Given the description of an element on the screen output the (x, y) to click on. 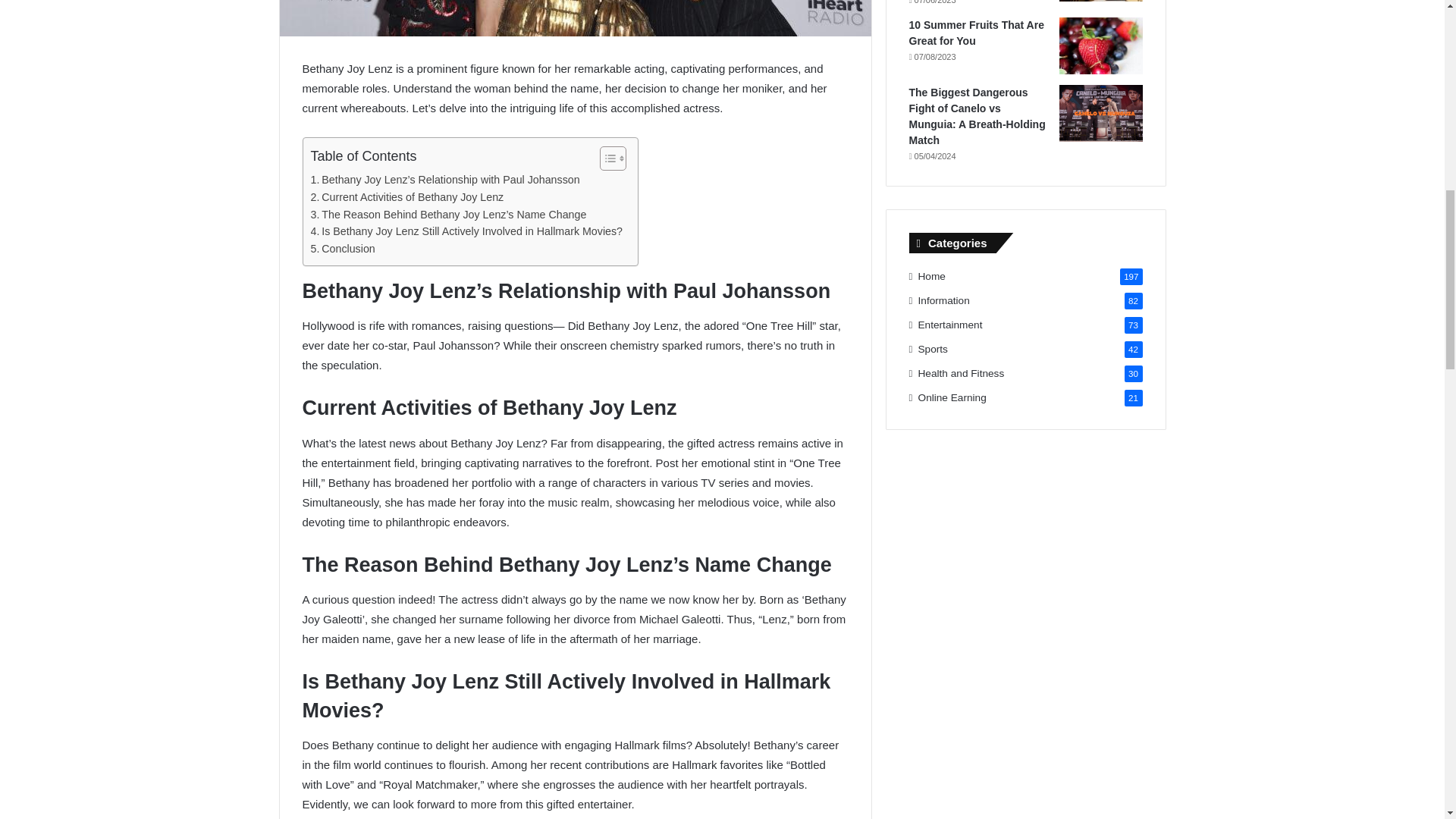
Conclusion (343, 248)
Current Activities of Bethany Joy Lenz (407, 197)
Conclusion (343, 248)
Current Activities of Bethany Joy Lenz (407, 197)
